Given the description of an element on the screen output the (x, y) to click on. 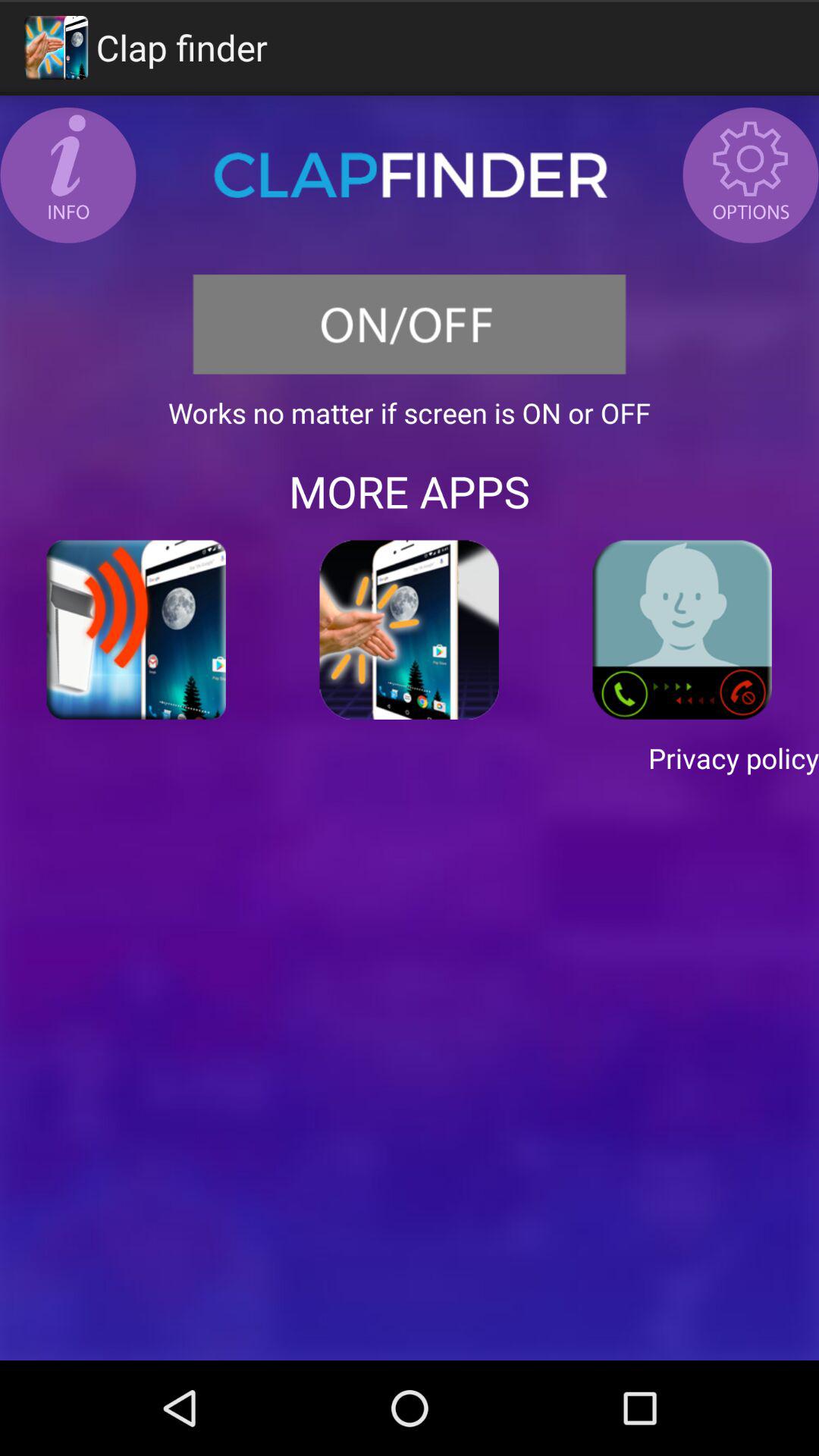
press the app below works no matter item (409, 490)
